Given the description of an element on the screen output the (x, y) to click on. 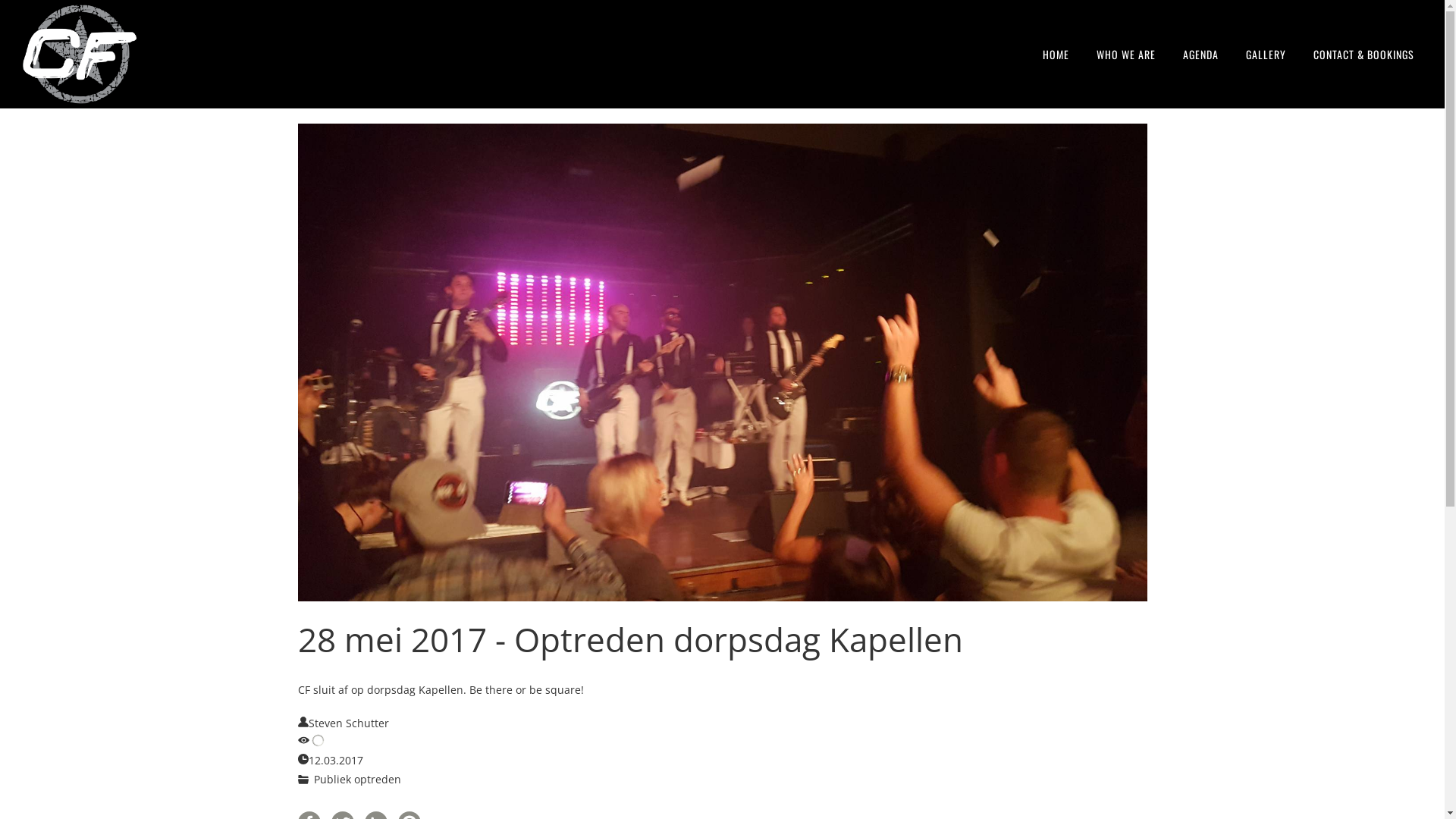
HOME Element type: text (1055, 54)
CONTACT & BOOKINGS Element type: text (1363, 54)
AGENDA Element type: text (1200, 54)
WHO WE ARE Element type: text (1125, 54)
GALLERY Element type: text (1265, 54)
